Given the description of an element on the screen output the (x, y) to click on. 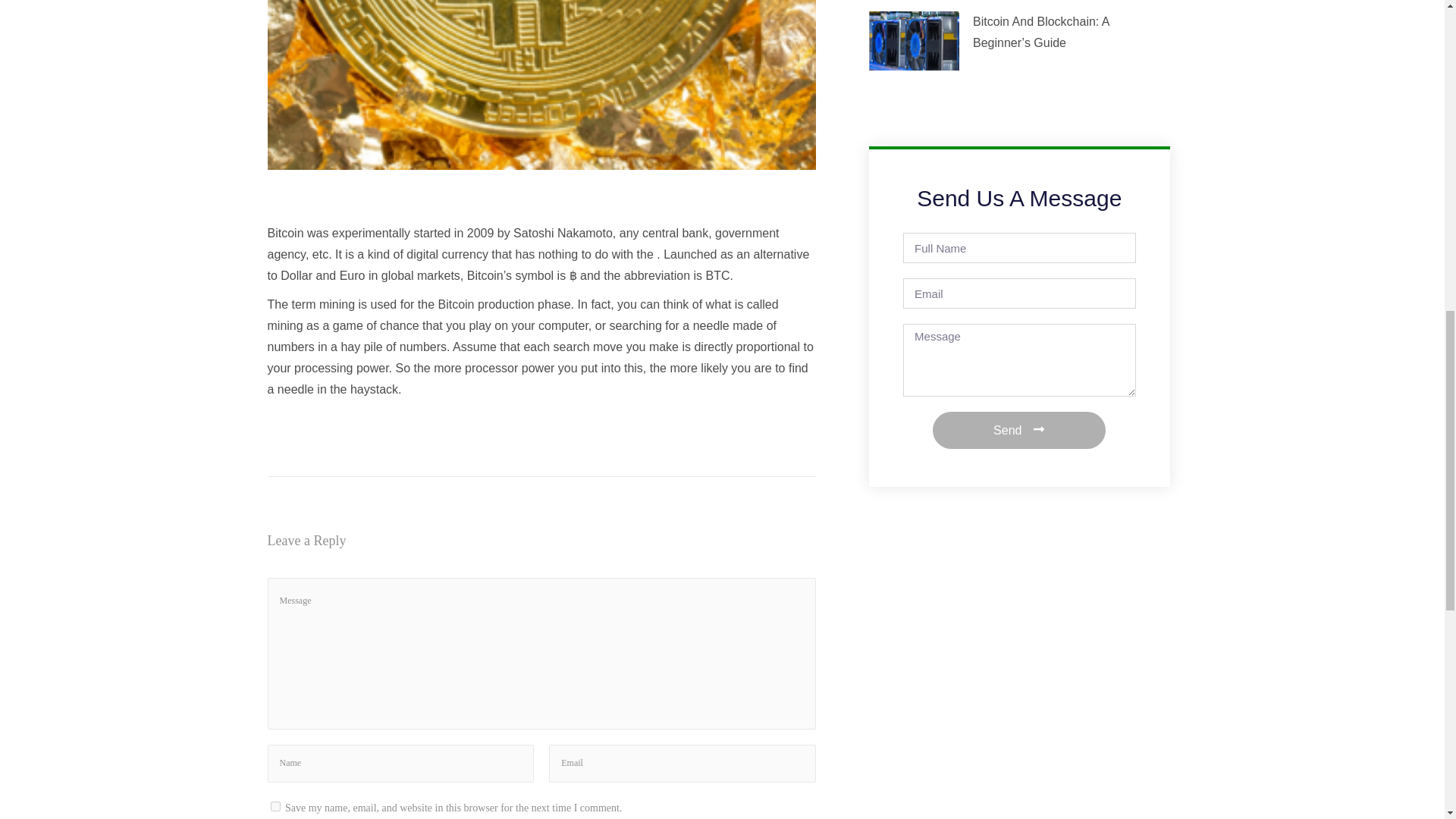
yes (274, 806)
Send (1019, 429)
